Given the description of an element on the screen output the (x, y) to click on. 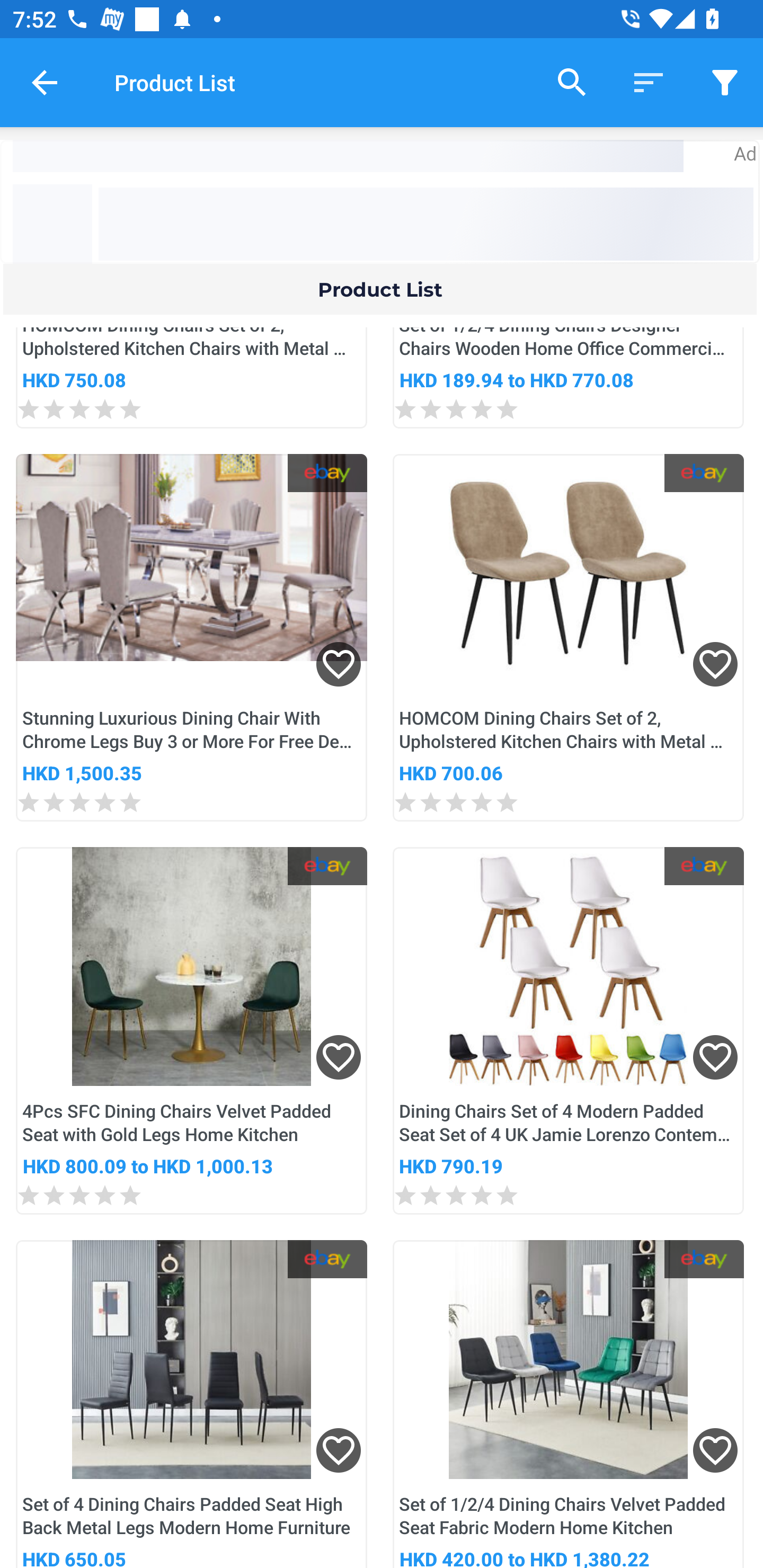
Navigate up (44, 82)
Search (572, 81)
short (648, 81)
short (724, 81)
